Given the description of an element on the screen output the (x, y) to click on. 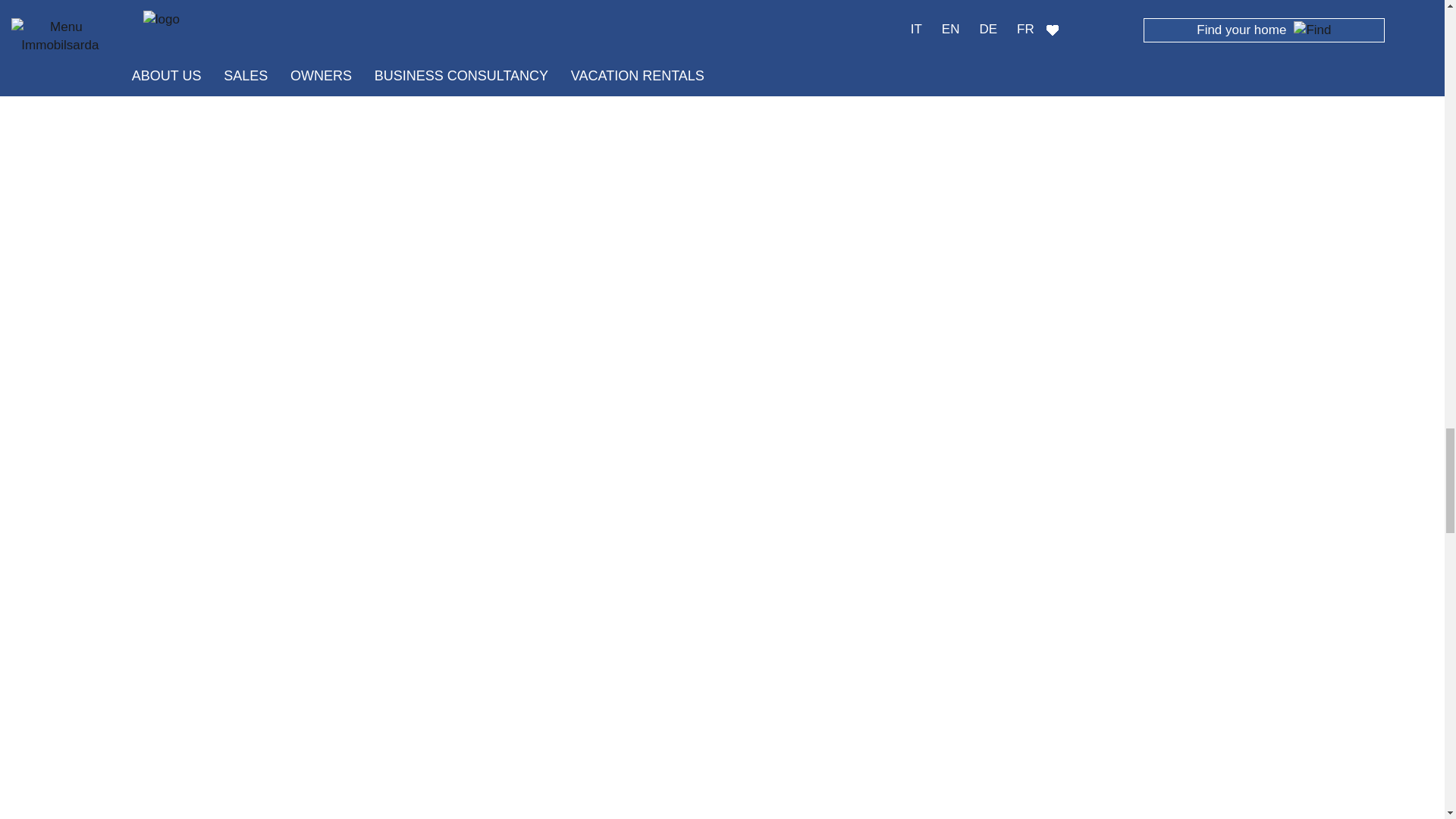
ask for info (487, 18)
Design and Philosophy (1025, 156)
Master Plan - I Lotti del Pevero (720, 391)
The Project (720, 156)
read more (649, 18)
read more (352, 18)
The Location (419, 156)
The Residences (419, 391)
ask for info (783, 18)
The Houses - I lotti del Pevero (1025, 391)
